Given the description of an element on the screen output the (x, y) to click on. 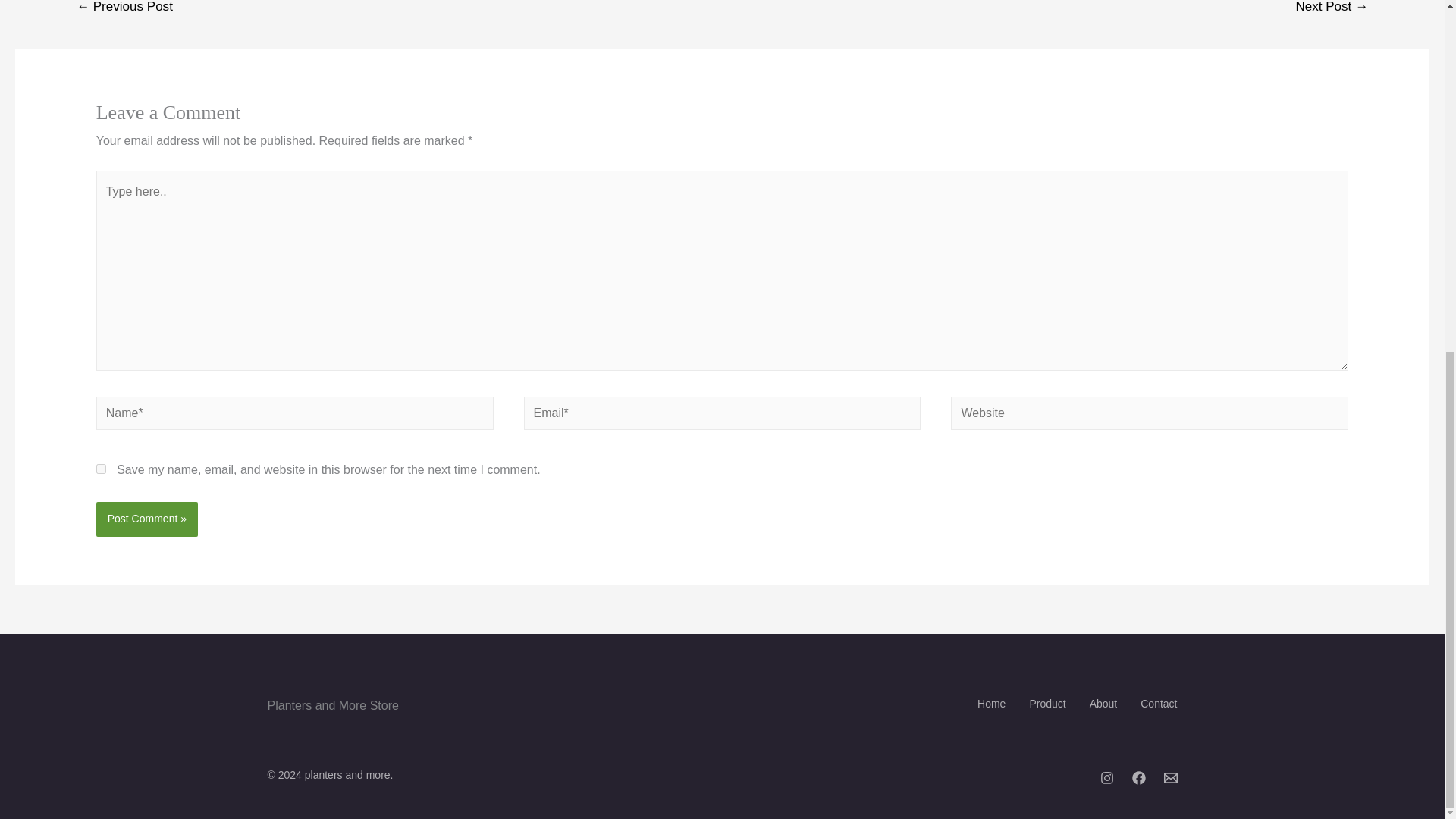
Home (984, 704)
yes (101, 469)
Product (1040, 704)
About (1096, 704)
Contact (1149, 704)
